Given the description of an element on the screen output the (x, y) to click on. 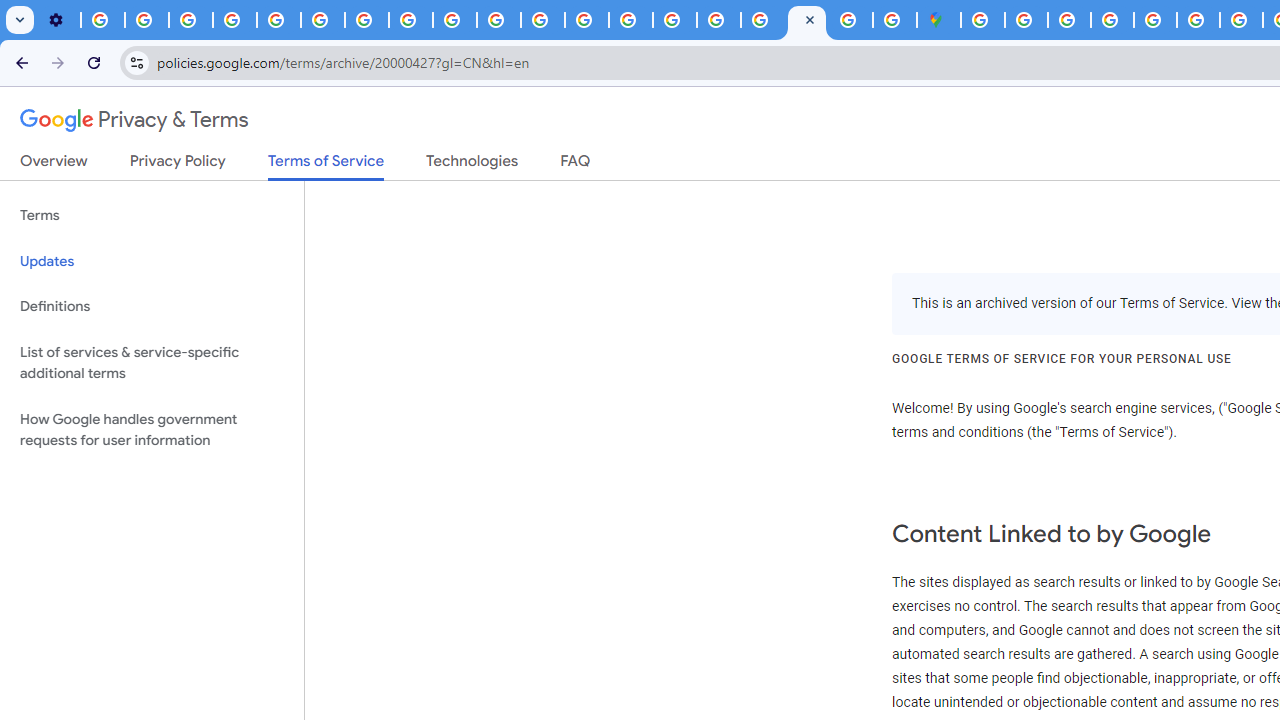
Terms and Conditions (1155, 20)
Privacy Checkup (454, 20)
Google Maps (938, 20)
Privacy Help Center - Policies Help (278, 20)
